Given the description of an element on the screen output the (x, y) to click on. 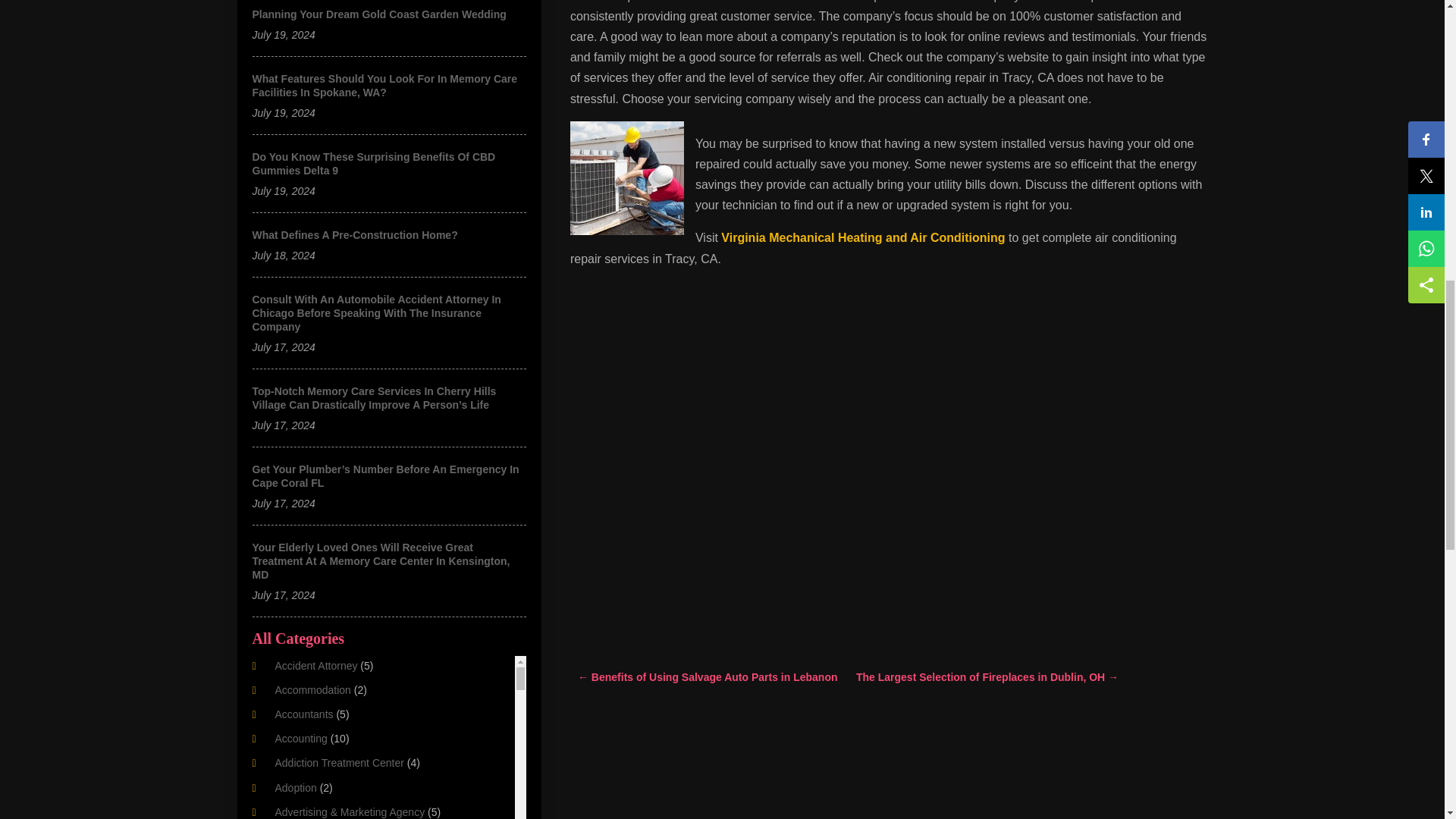
Planning Your Dream Gold Coast Garden Wedding (378, 14)
Accountants (304, 714)
Accounting (300, 738)
Do You Know These Surprising Benefits Of CBD Gummies Delta 9 (373, 163)
Adoption (295, 787)
What Defines A Pre-Construction Home? (354, 234)
Virginia Mechanical Heating and Air Conditioning (862, 237)
Accident Attorney (315, 665)
Addiction Treatment Center (339, 762)
Accommodation (312, 689)
